Given the description of an element on the screen output the (x, y) to click on. 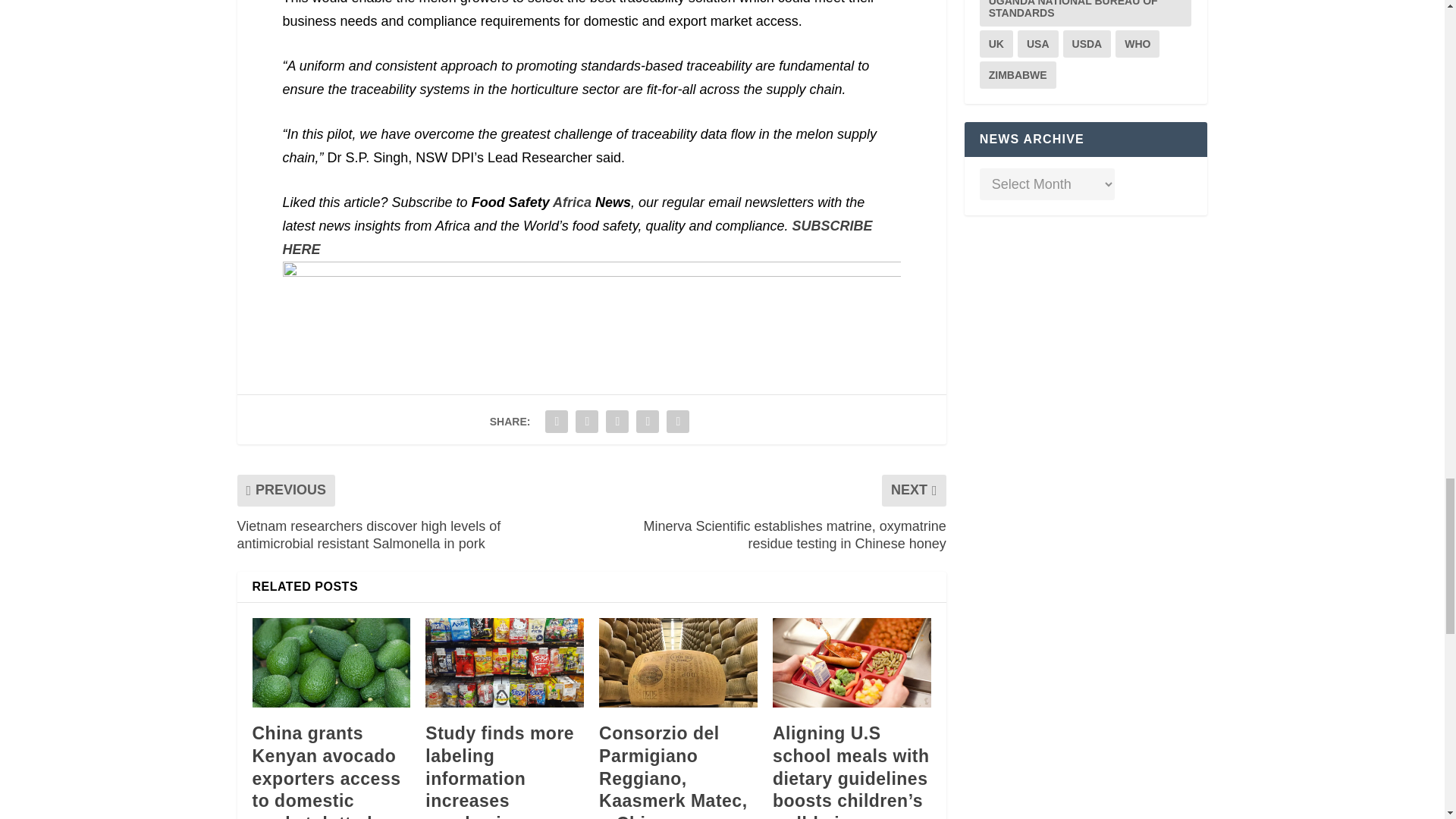
Africa (572, 201)
SUBSCRIBE HERE (577, 237)
